Given the description of an element on the screen output the (x, y) to click on. 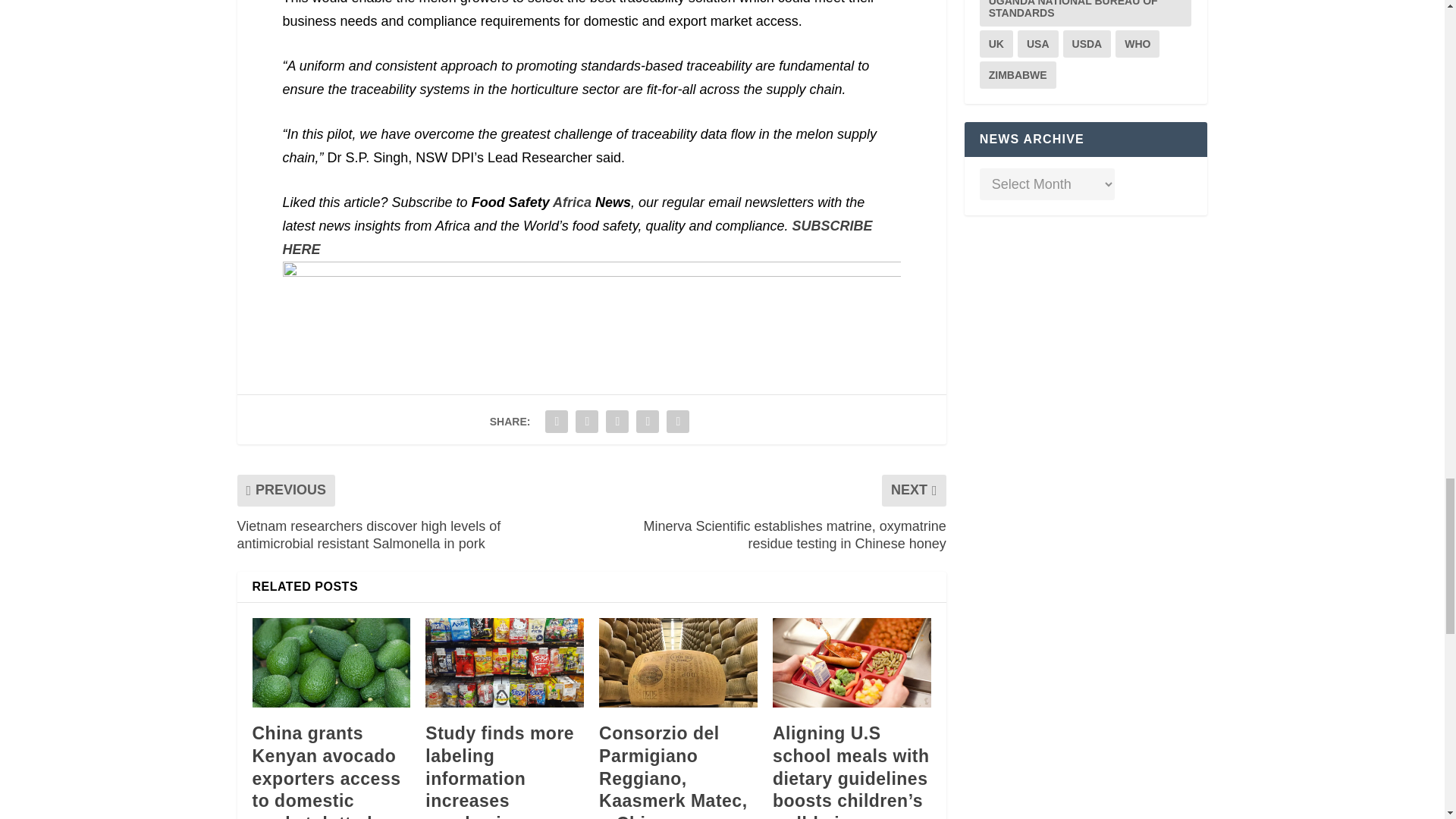
Africa (572, 201)
SUBSCRIBE HERE (577, 237)
